Given the description of an element on the screen output the (x, y) to click on. 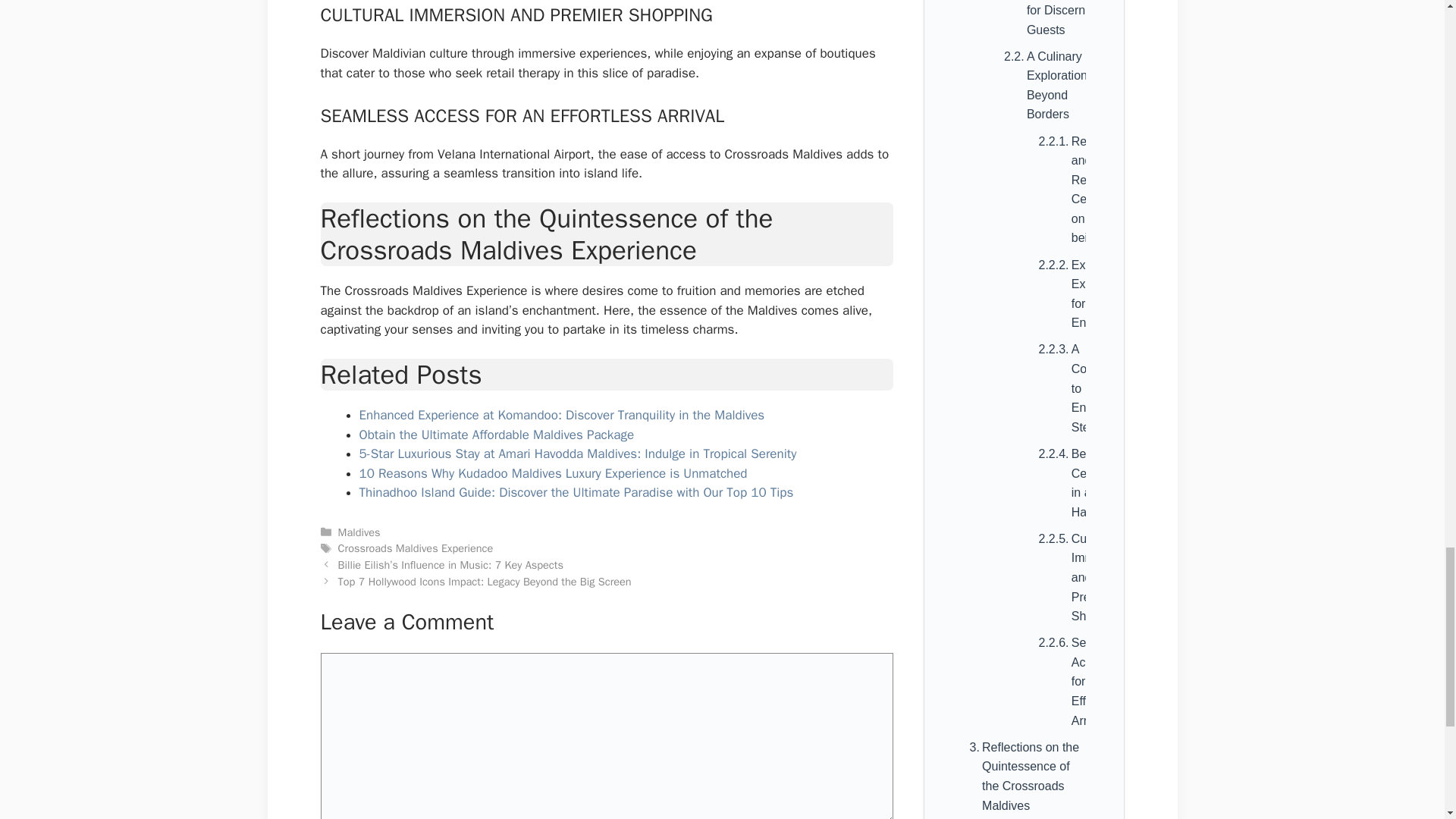
Top 7 Hollywood Icons Impact: Legacy Beyond the Big Screen (484, 581)
Obtain the Ultimate Affordable Maldives Package (496, 434)
Maldives (358, 531)
Crossroads Maldives Experience (415, 548)
